Given the description of an element on the screen output the (x, y) to click on. 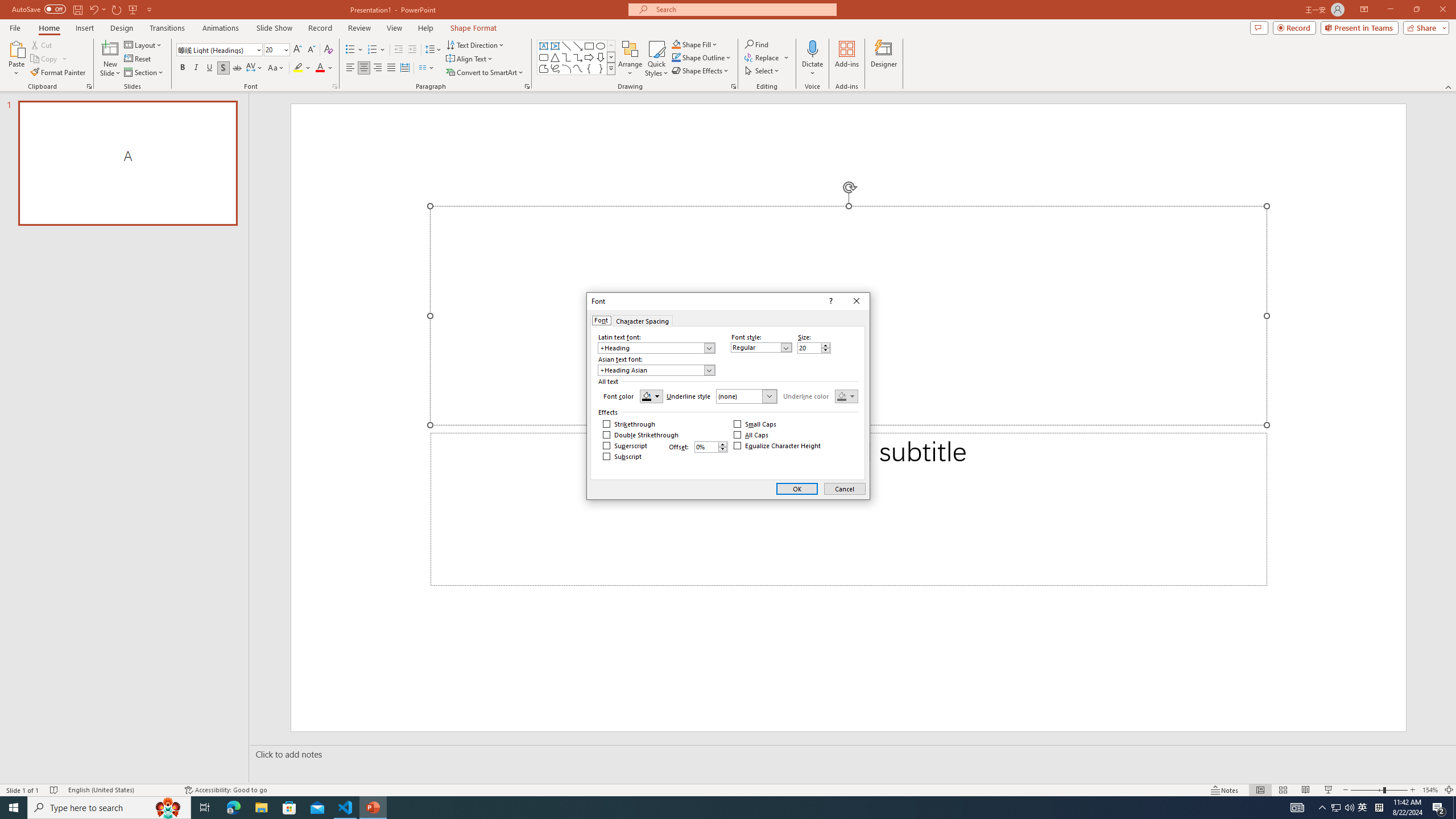
Underline style (746, 396)
Size (814, 347)
Small Caps (755, 424)
